Given the description of an element on the screen output the (x, y) to click on. 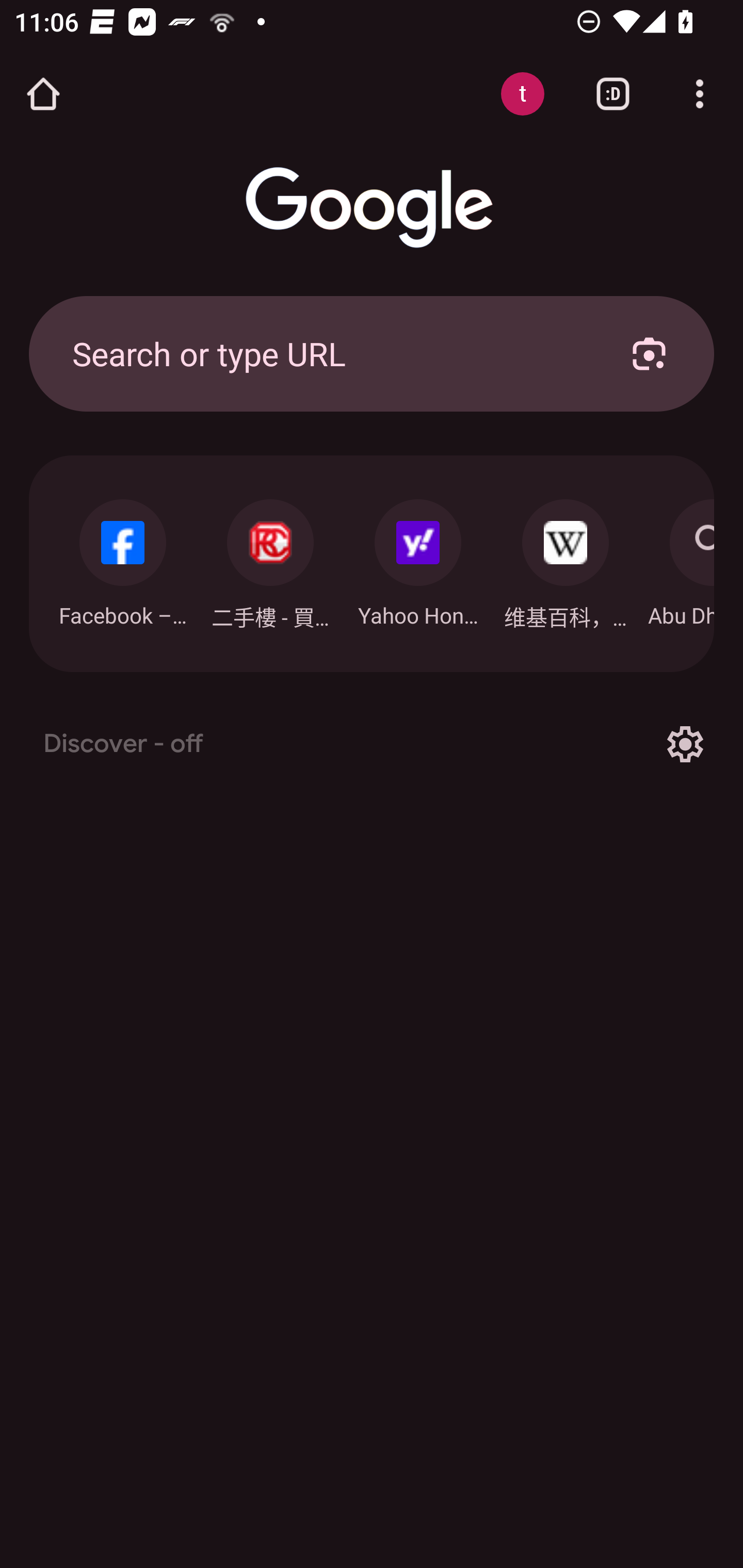
Open the home page (43, 93)
Switch or close tabs (612, 93)
Customize and control Google Chrome (699, 93)
Search or type URL (327, 353)
Search with your camera using Google Lens (648, 353)
Options for Discover (684, 743)
